Given the description of an element on the screen output the (x, y) to click on. 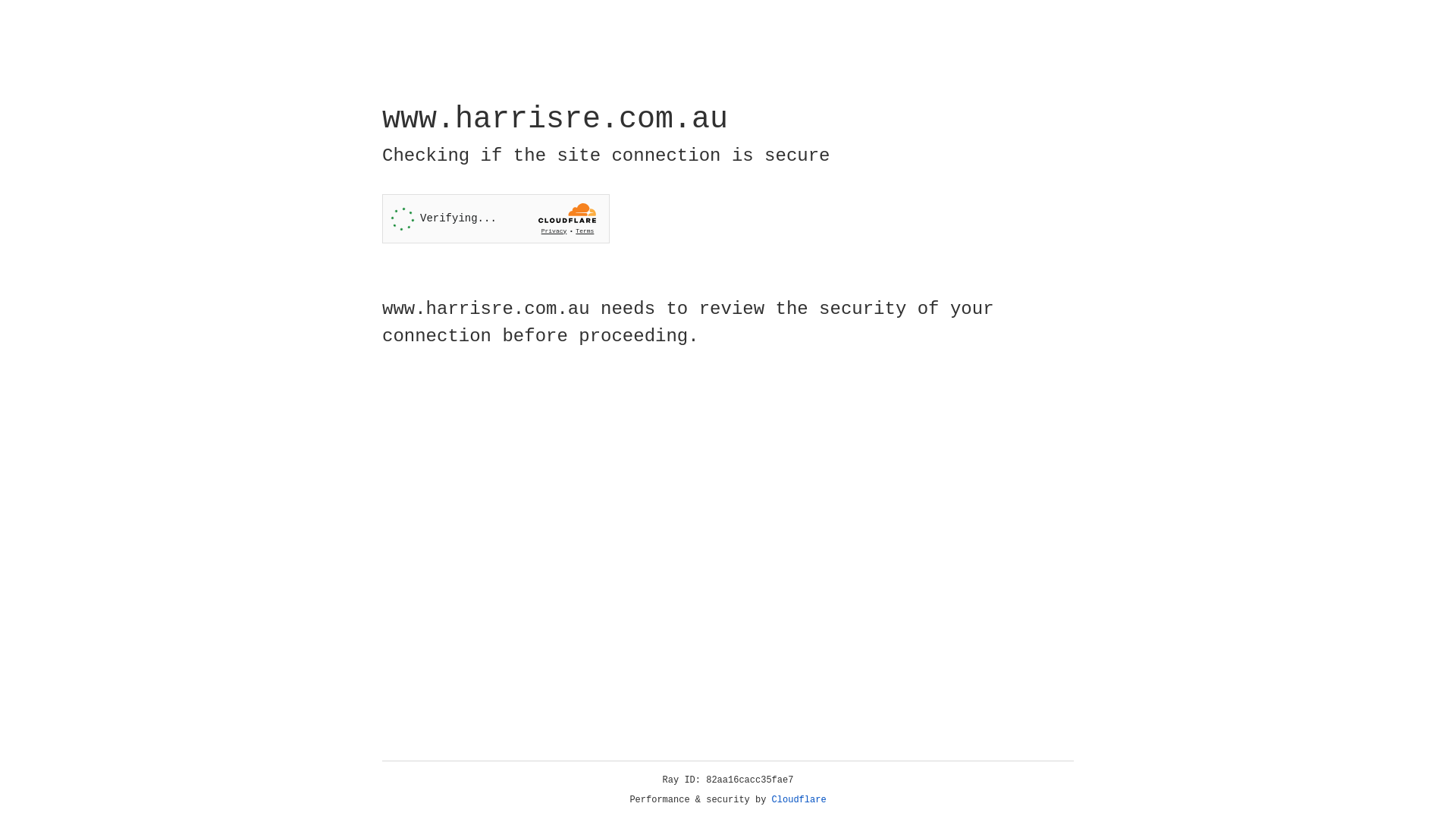
Cloudflare Element type: text (798, 799)
Widget containing a Cloudflare security challenge Element type: hover (495, 218)
